Given the description of an element on the screen output the (x, y) to click on. 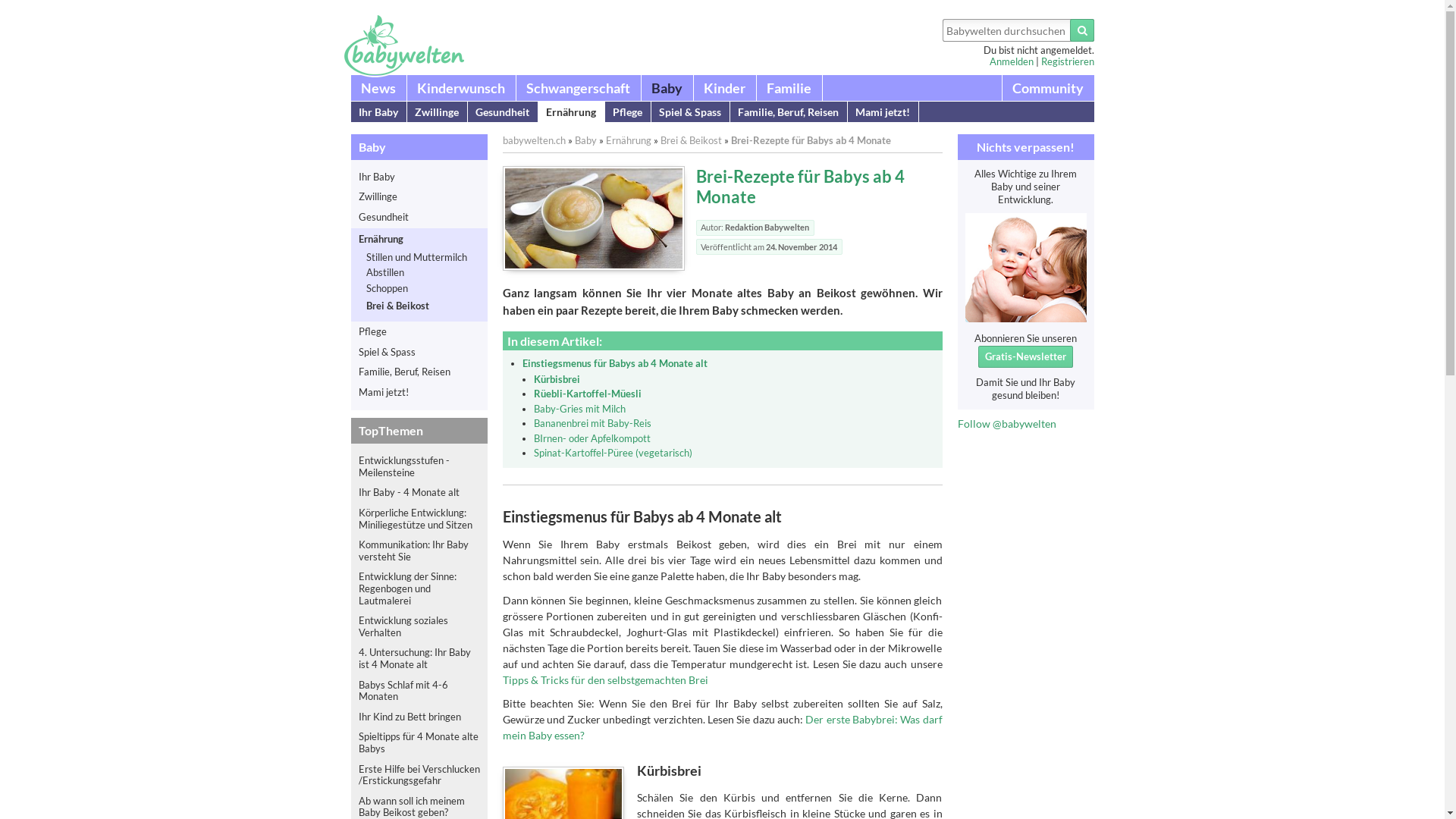
Registrieren Element type: text (1066, 61)
Gratis-Newsletter Element type: text (1025, 356)
Bananenbrei mit Baby-Reis Element type: text (592, 423)
Ihr Baby Element type: text (377, 111)
Spiel & Spass Element type: text (689, 111)
babywelten.ch Element type: text (533, 140)
Erste Hilfe bei Verschlucken /Erstickungsgefahr Element type: text (418, 774)
Babys Schlaf mit 4-6 Monaten Element type: text (418, 690)
Follow @babywelten Element type: text (1006, 423)
Schwangerschaft Element type: text (577, 87)
Entwicklung der Sinne: Regenbogen und Lautmalerei Element type: text (418, 588)
Kinder Element type: text (724, 87)
Kinderwunsch Element type: text (460, 87)
Brei & Beikost Element type: text (690, 140)
Baby Element type: text (585, 140)
Schoppen Element type: text (421, 288)
Anmelden Element type: text (1010, 61)
Zwillinge Element type: text (418, 197)
Mami jetzt! Element type: text (882, 111)
Abstillen Element type: text (421, 272)
Kommunikation: Ihr Baby versteht Sie Element type: text (418, 550)
BIrnen- oder Apfelkompott Element type: text (591, 438)
Ihr Baby - 4 Monate alt Element type: text (418, 492)
Pflege Element type: text (627, 111)
4. Untersuchung: Ihr Baby ist 4 Monate alt Element type: text (418, 658)
Familie, Beruf, Reisen Element type: text (787, 111)
Community Element type: text (1048, 87)
Mami jetzt! Element type: text (418, 392)
Gesundheit Element type: text (501, 111)
Gesundheit Element type: text (418, 217)
Baby Element type: text (667, 87)
Stillen und Muttermilch Element type: text (421, 257)
Entwicklungsstufen - Meilensteine Element type: text (418, 466)
Ihr Baby Element type: text (418, 177)
Familie Element type: text (789, 87)
Familie, Beruf, Reisen Element type: text (418, 372)
Pflege Element type: text (418, 332)
Baby-Gries mit Milch Element type: text (579, 408)
Spiel & Spass Element type: text (418, 352)
Zwillinge Element type: text (436, 111)
Der erste Babybrei: Was darf mein Baby essen? Element type: text (721, 726)
News Element type: text (377, 87)
Ihr Kind zu Bett bringen Element type: text (418, 717)
Entwicklung soziales Verhalten Element type: text (418, 626)
Brei & Beikost Element type: text (421, 305)
